Given the description of an element on the screen output the (x, y) to click on. 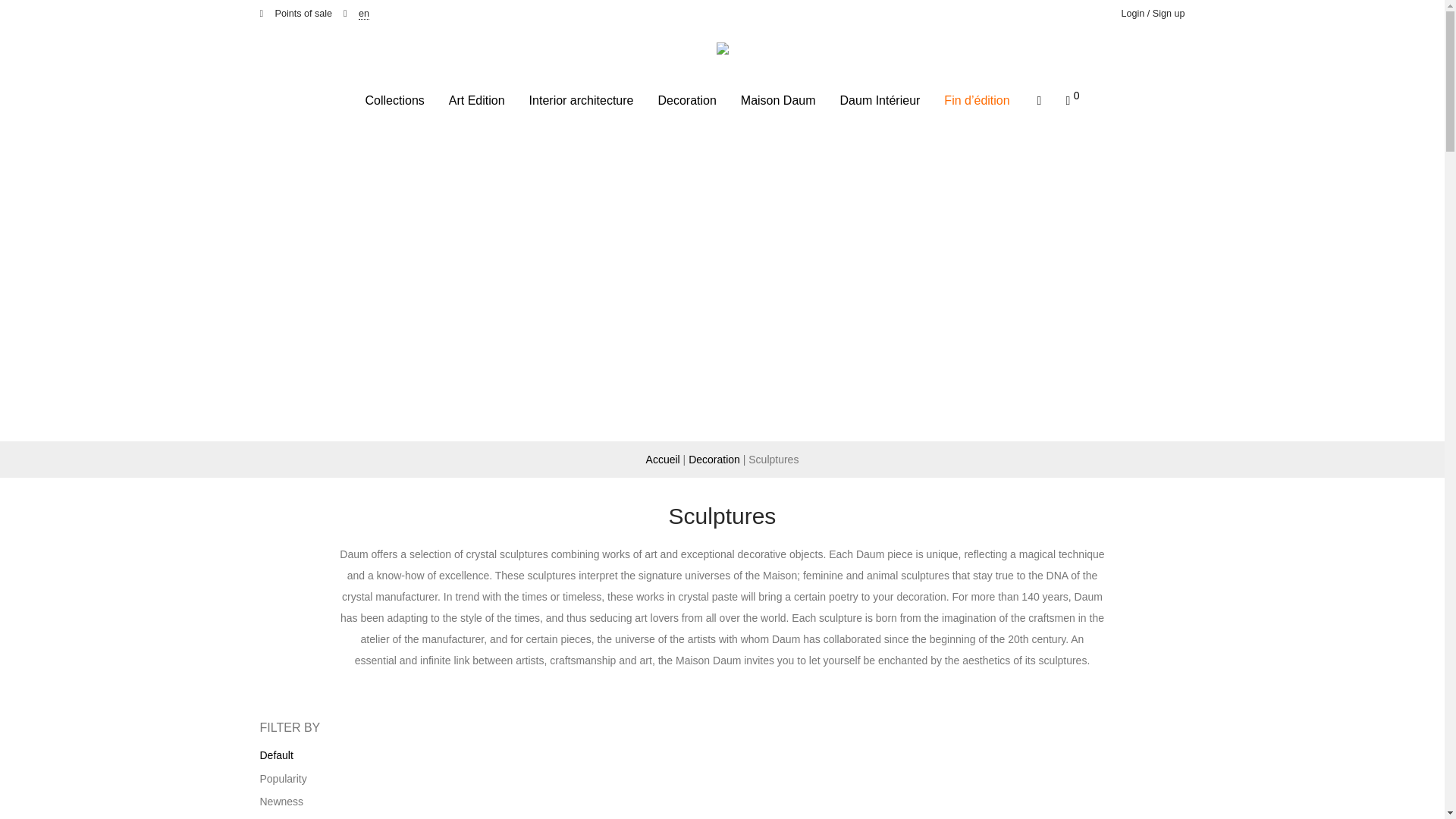
Interior architecture (581, 100)
Decoration (686, 100)
0 (1071, 100)
Newness (280, 801)
en (363, 13)
Maison Daum (778, 100)
Decoration (713, 459)
Art Edition (476, 100)
Accueil (662, 459)
Popularity (282, 778)
Points of sale (303, 13)
Collections (394, 100)
